Given the description of an element on the screen output the (x, y) to click on. 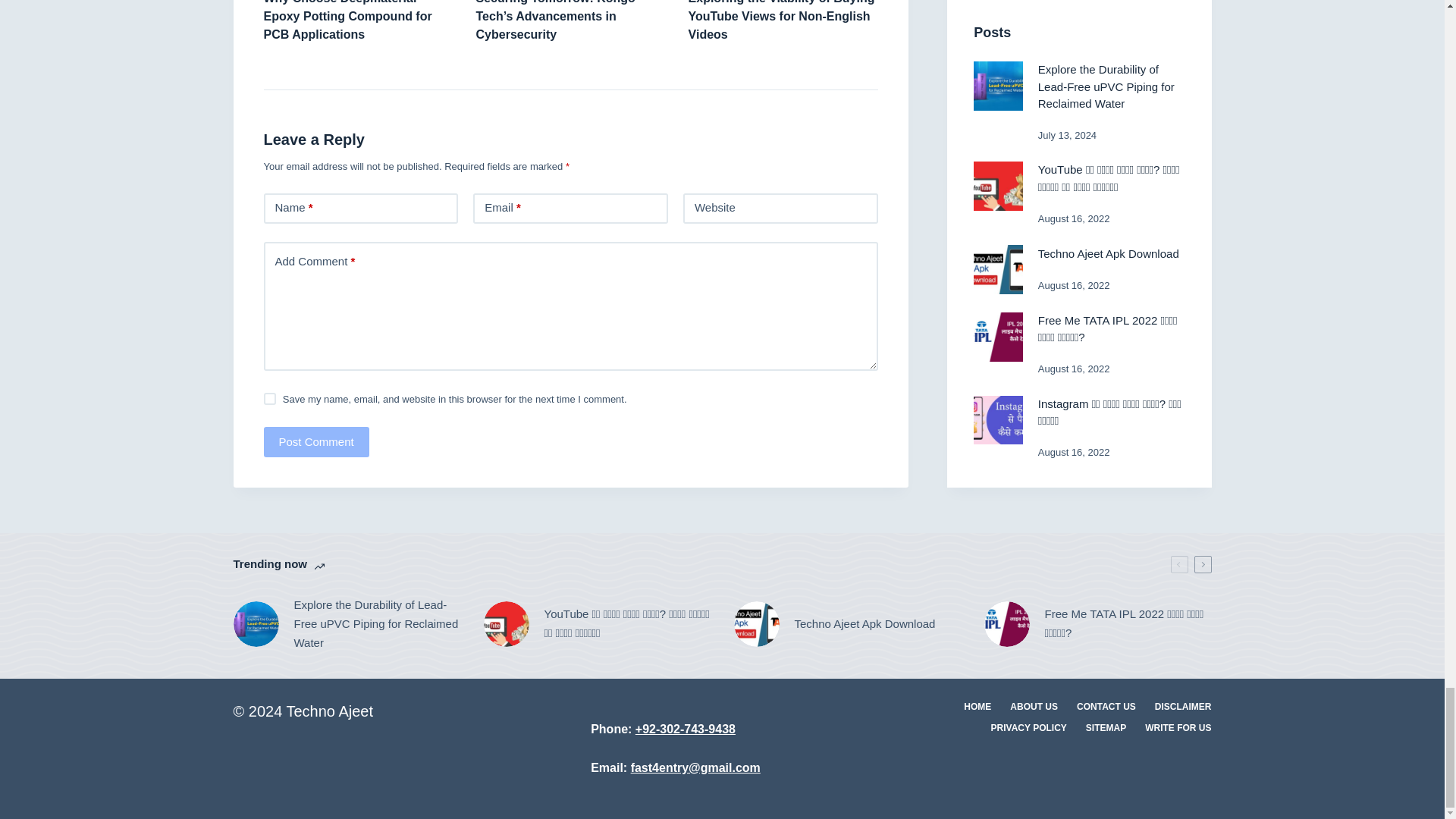
Post Comment (316, 441)
yes (269, 398)
